Given the description of an element on the screen output the (x, y) to click on. 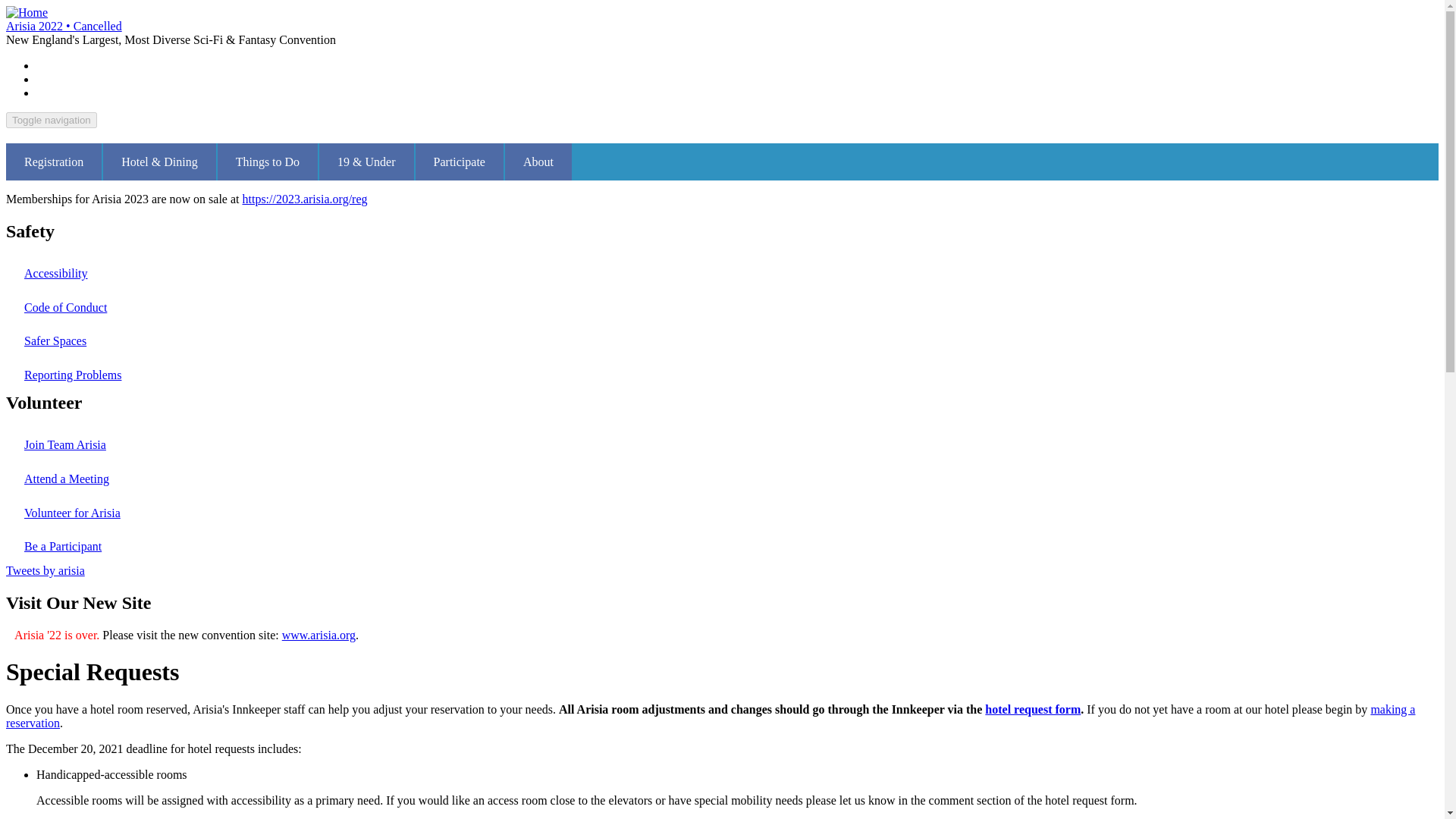
Things to Do (266, 161)
Home (63, 25)
Home (26, 11)
Registration (53, 161)
Purchase a convention membership (53, 161)
Toggle navigation (51, 119)
